Given the description of an element on the screen output the (x, y) to click on. 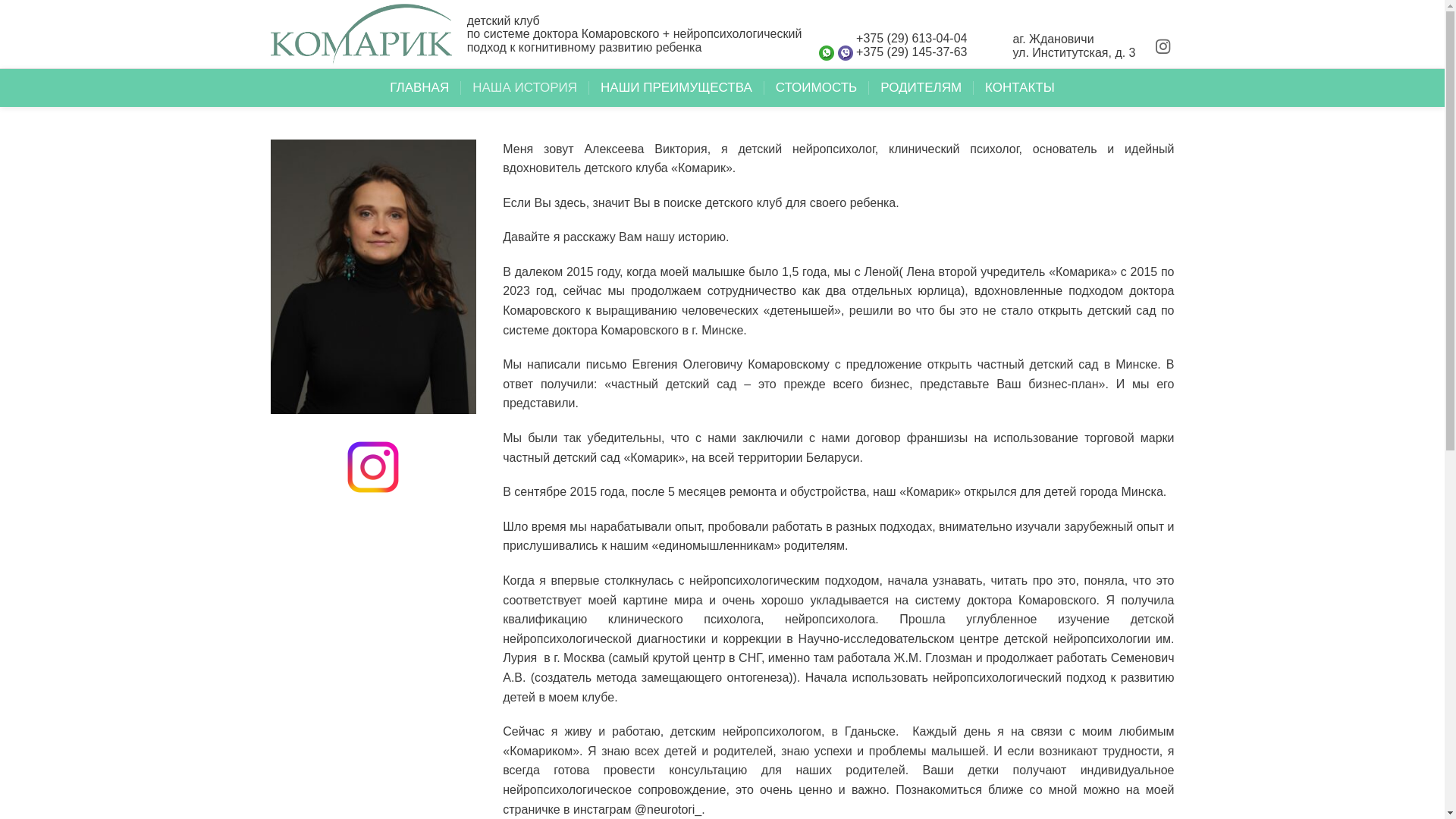
@neurotori_ Element type: text (667, 809)
pngtree-instagram-social-platform-icon-png-image_6315976 Element type: hover (372, 466)
